Given the description of an element on the screen output the (x, y) to click on. 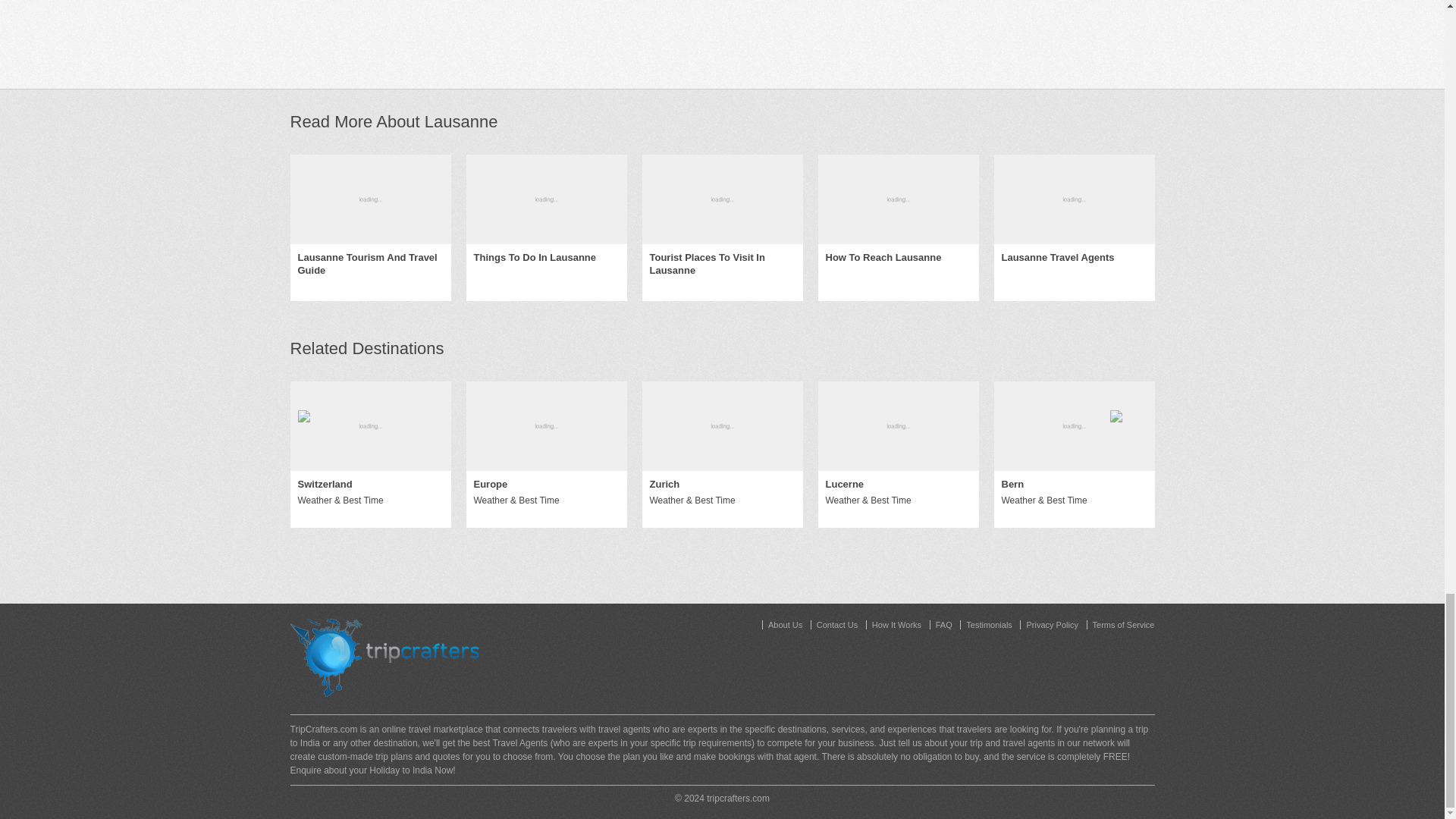
Switzerland (324, 484)
Tourist Places To Visit In Lausanne (721, 264)
Europe (489, 484)
Lausanne Tourism And Travel Guide (369, 264)
Lausanne Tourism And Travel Guide (369, 199)
Things To Do In Lausanne (534, 257)
How To Reach Lausanne (882, 257)
Lausanne Travel Agents (1057, 257)
Zurich (664, 484)
